Given the description of an element on the screen output the (x, y) to click on. 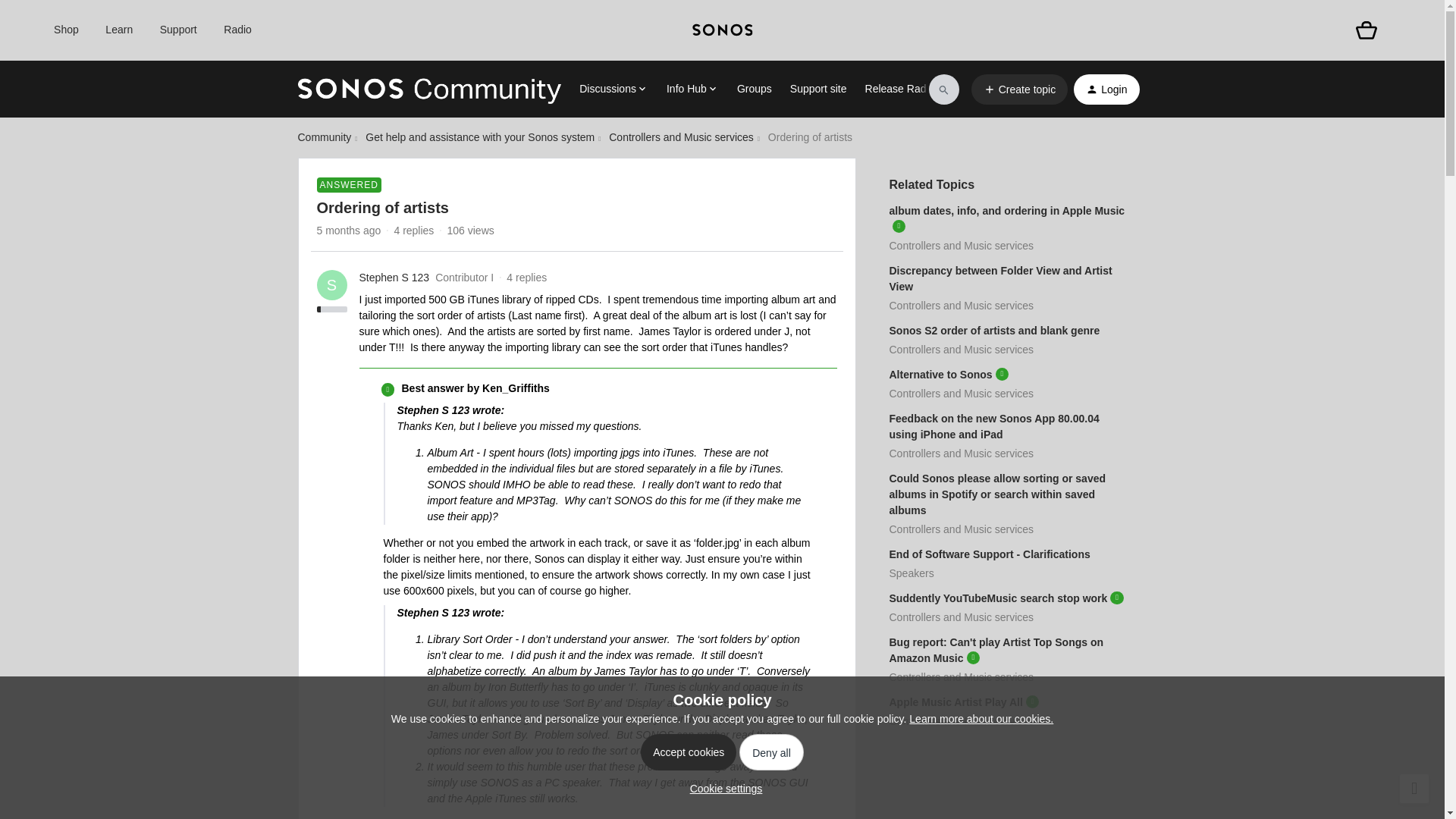
Learn (118, 30)
Discussions (613, 88)
Radio (237, 30)
Support (178, 30)
Shop (65, 30)
